Given the description of an element on the screen output the (x, y) to click on. 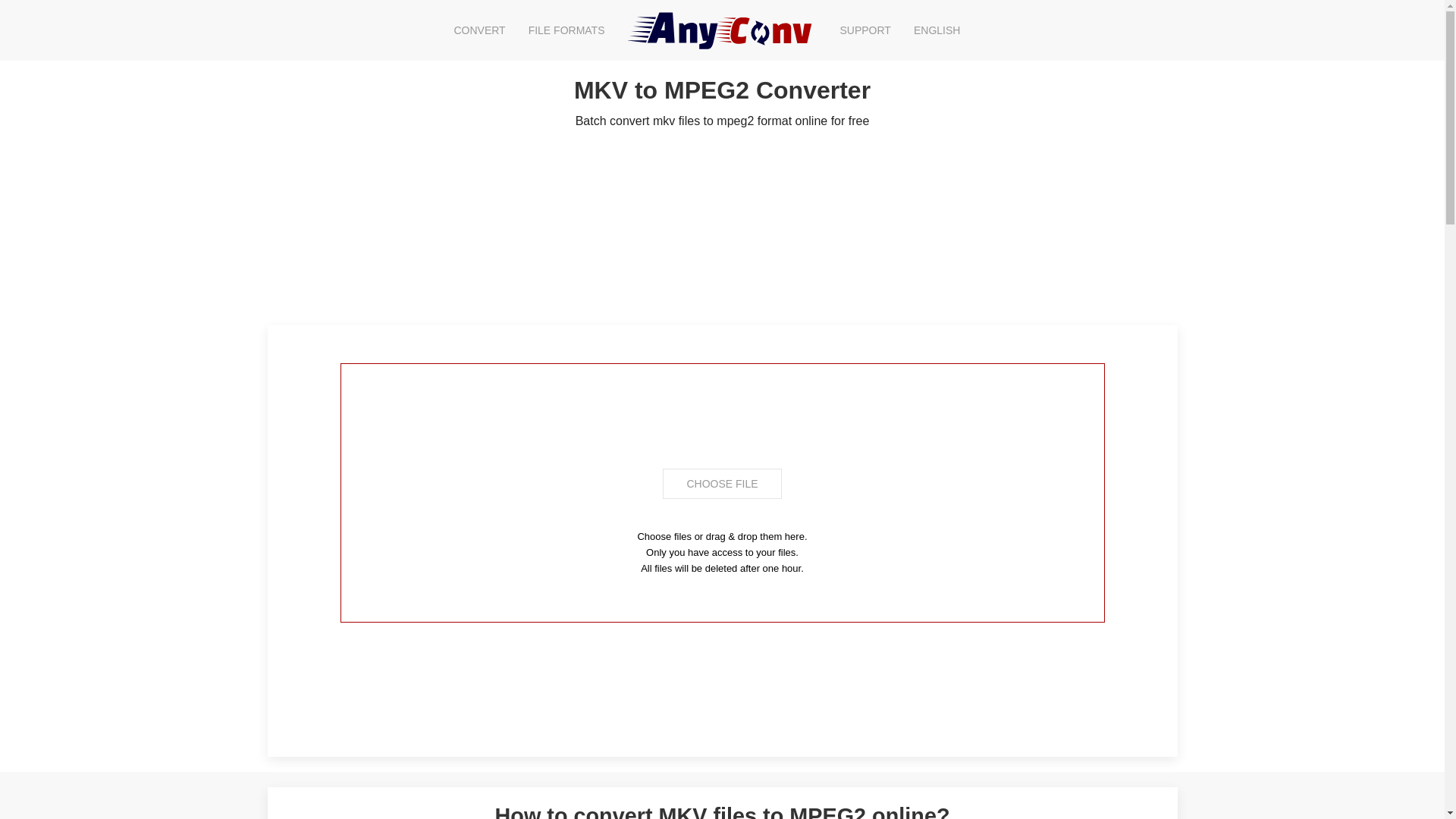
Advertisement (721, 686)
CONVERT (479, 30)
